Given the description of an element on the screen output the (x, y) to click on. 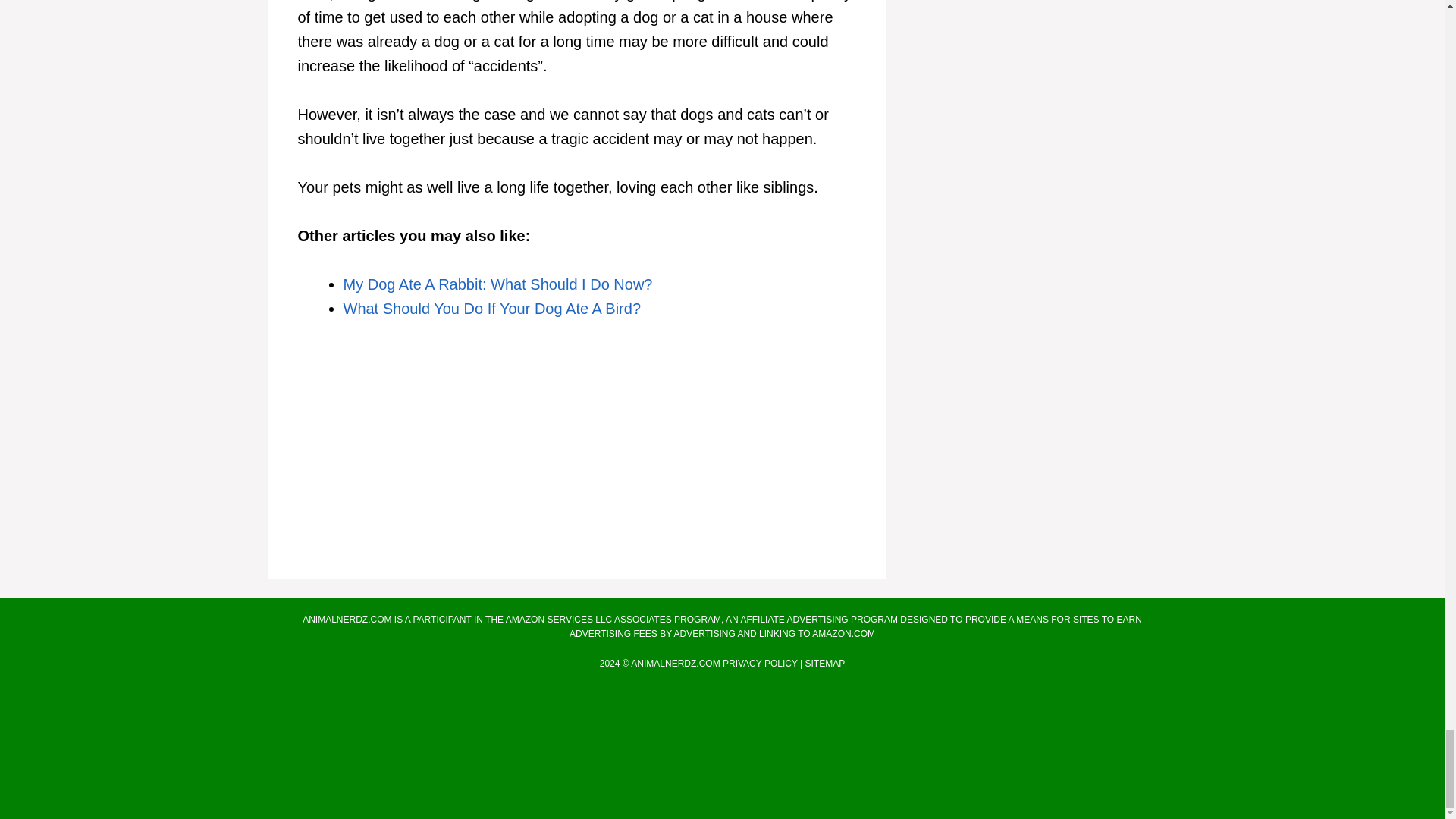
PRIVACY POLICY (759, 663)
What Should You Do If Your Dog Ate A Bird? (491, 308)
DMCA.com Protection Status (721, 796)
My Dog Ate A Rabbit: What Should I Do Now? (497, 284)
